Given the description of an element on the screen output the (x, y) to click on. 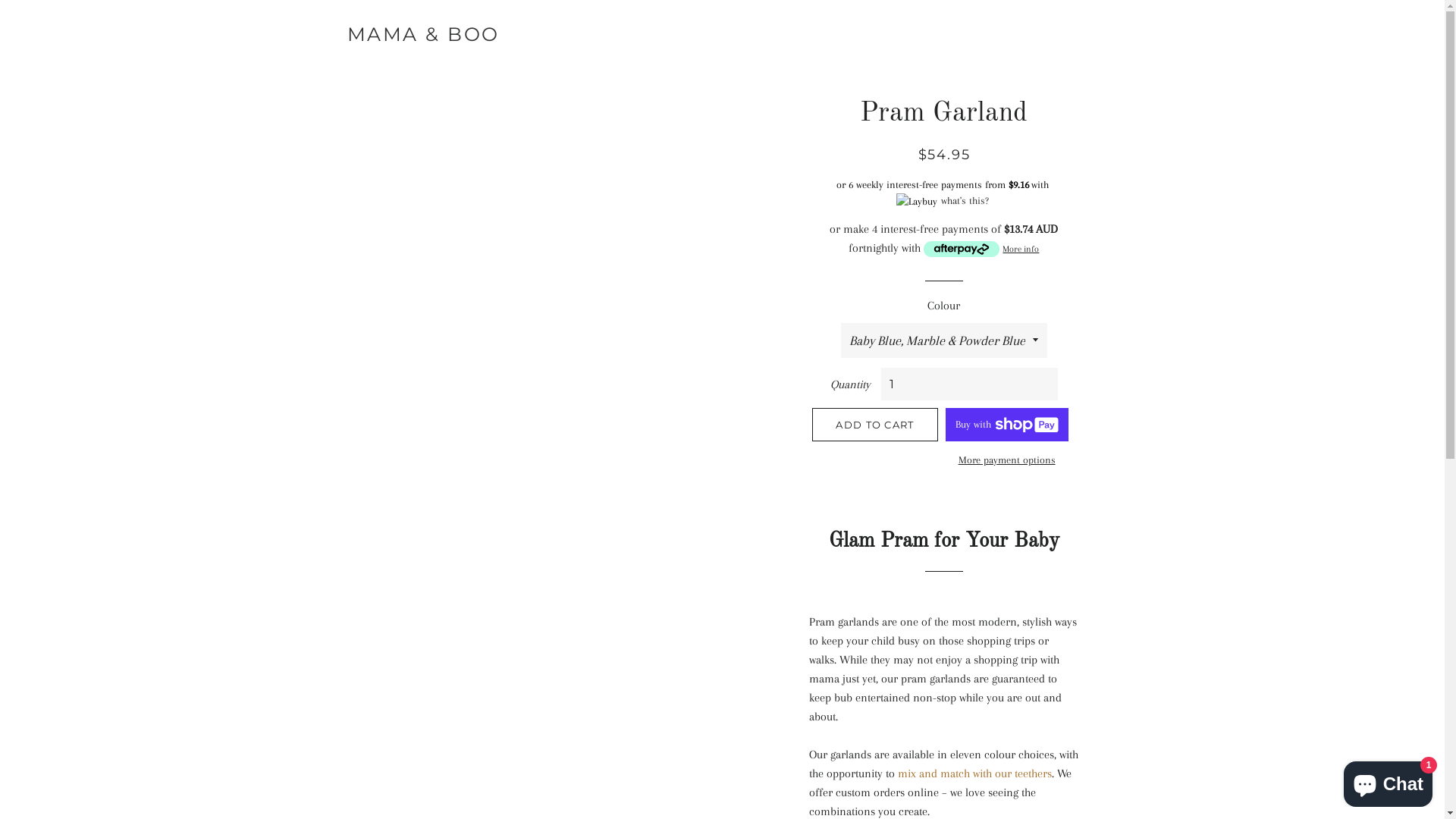
Shopify online store chat Element type: hover (1388, 780)
More payment options Element type: text (1006, 459)
More info Element type: text (980, 247)
MAMA & BOO Element type: text (423, 34)
mix and match with our teethers Element type: text (974, 773)
what's this? Element type: text (962, 200)
ADD TO CART Element type: text (874, 424)
